Given the description of an element on the screen output the (x, y) to click on. 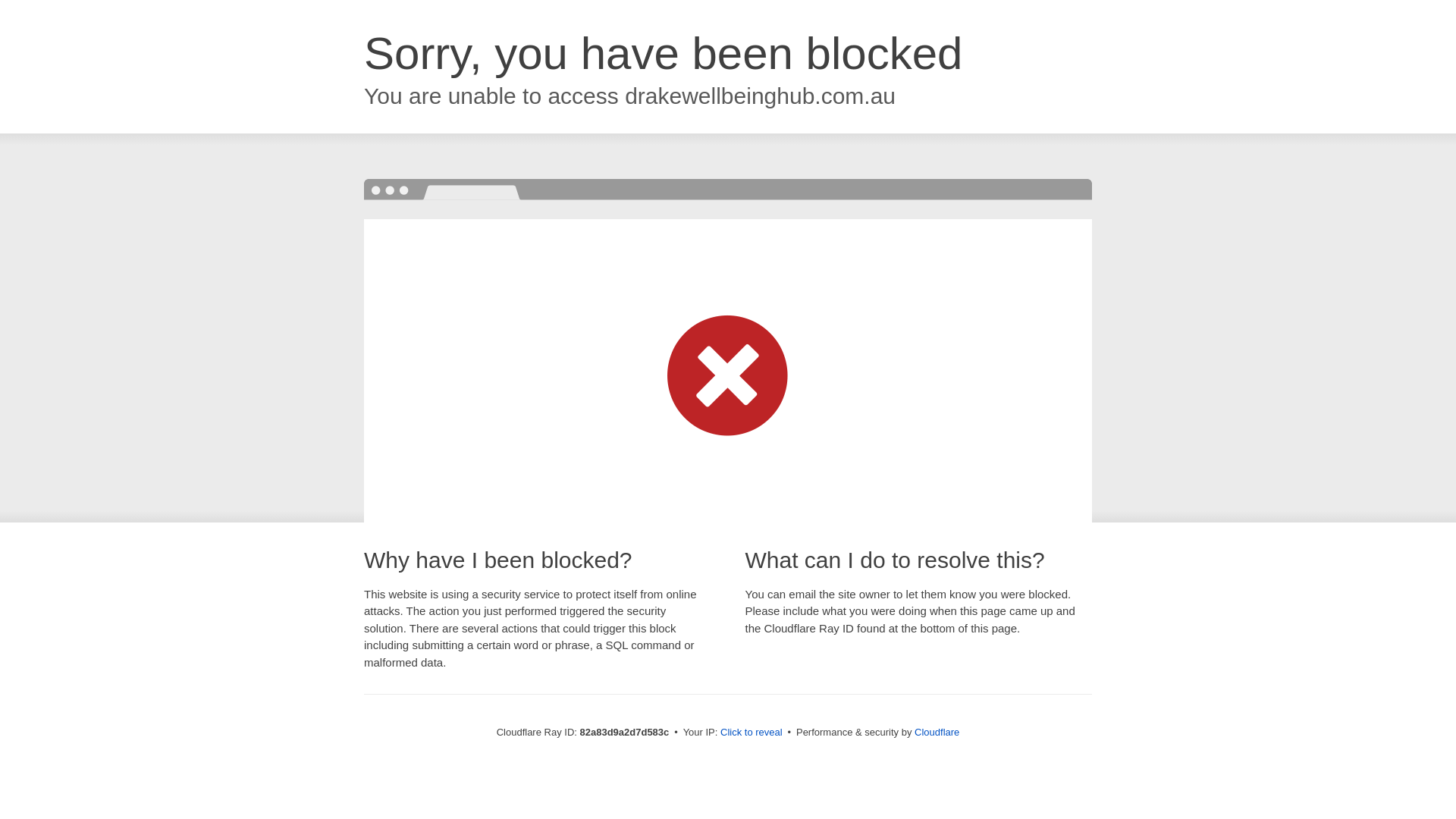
Cloudflare Element type: text (936, 731)
Click to reveal Element type: text (751, 732)
